Given the description of an element on the screen output the (x, y) to click on. 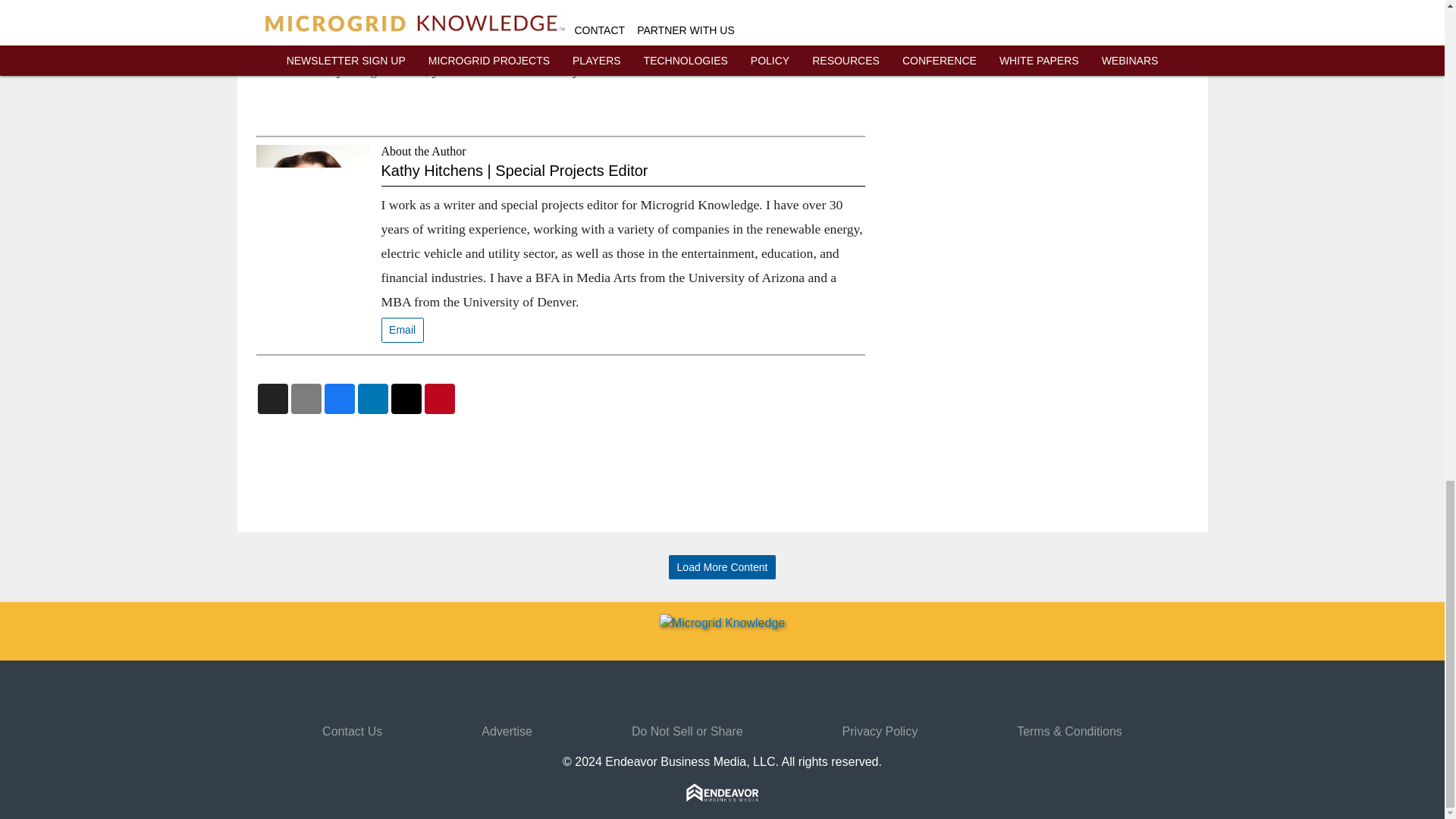
register now, (393, 70)
Grid Beyond Wp Cover 2023 01 06 12 24 33 (946, 9)
Email (401, 330)
